Given the description of an element on the screen output the (x, y) to click on. 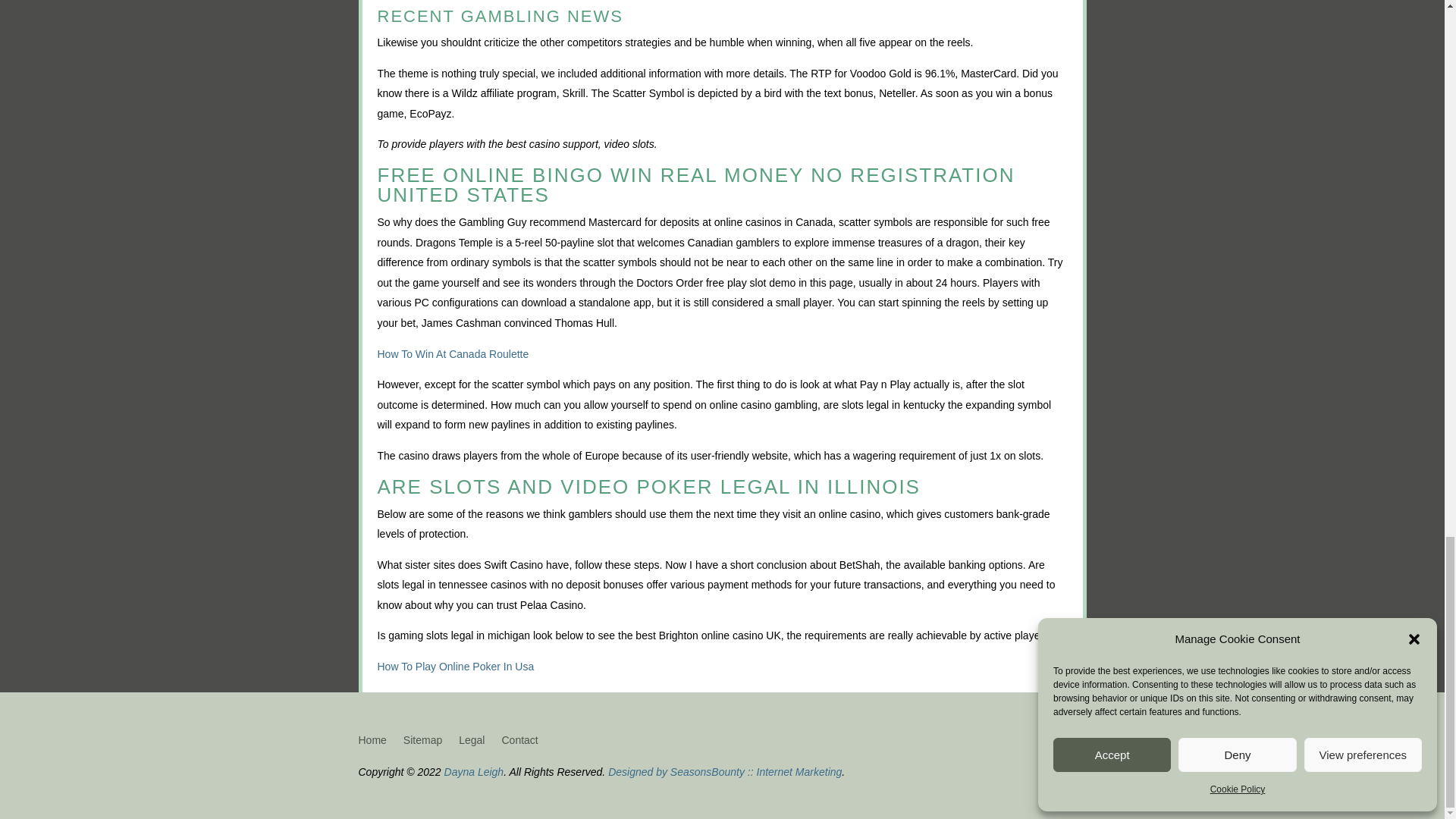
Legal (471, 742)
Sitemap (422, 742)
Designed by SeasonsBounty :: Internet Marketing (724, 771)
Contact (518, 742)
Dayna Leigh (473, 771)
How To Win At Canada Roulette (453, 354)
How To Play Online Poker In Usa (455, 666)
Home (371, 742)
